Given the description of an element on the screen output the (x, y) to click on. 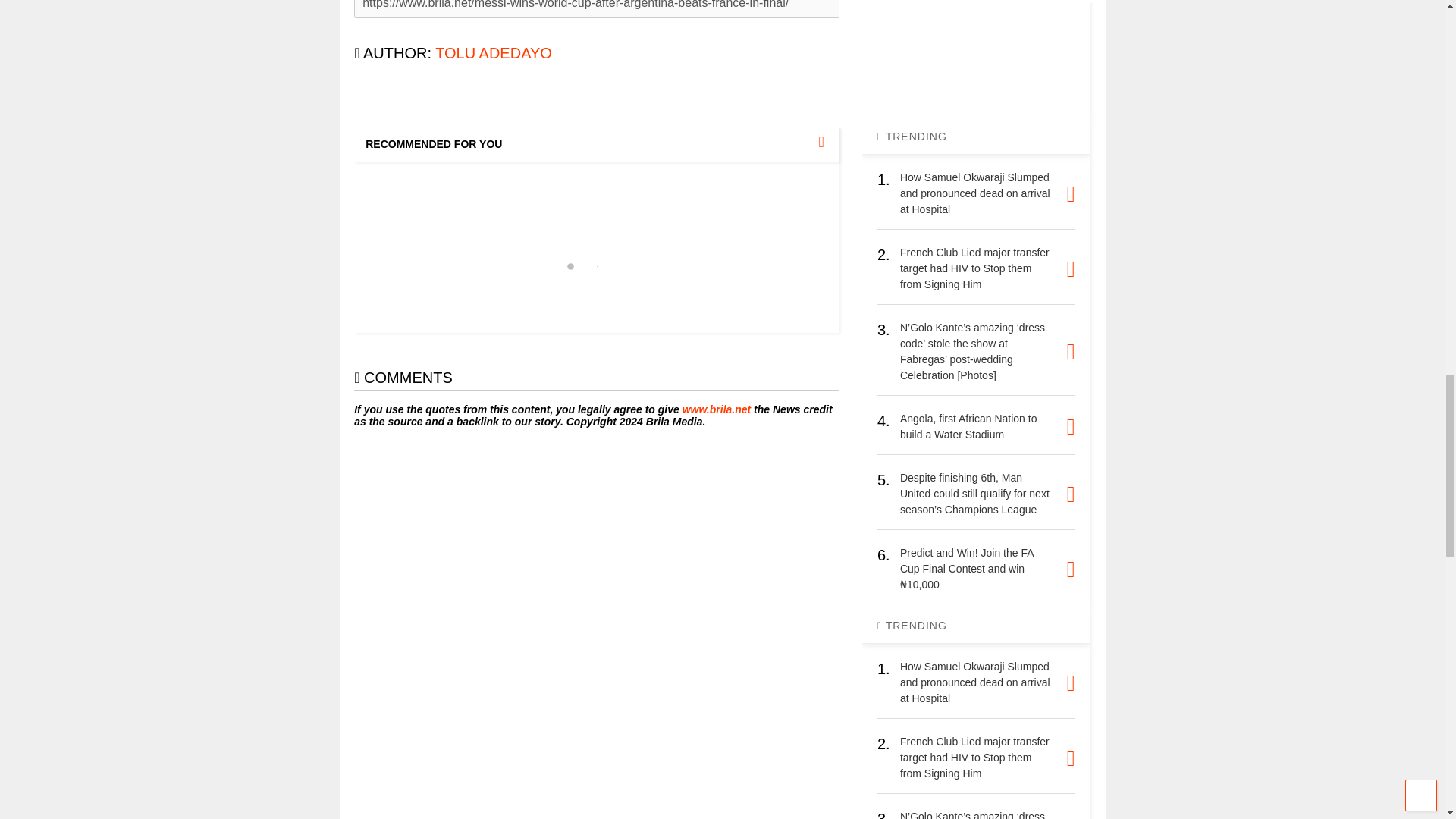
www.brila.net (716, 409)
author profile (493, 53)
TOLU ADEDAYO (493, 53)
